Given the description of an element on the screen output the (x, y) to click on. 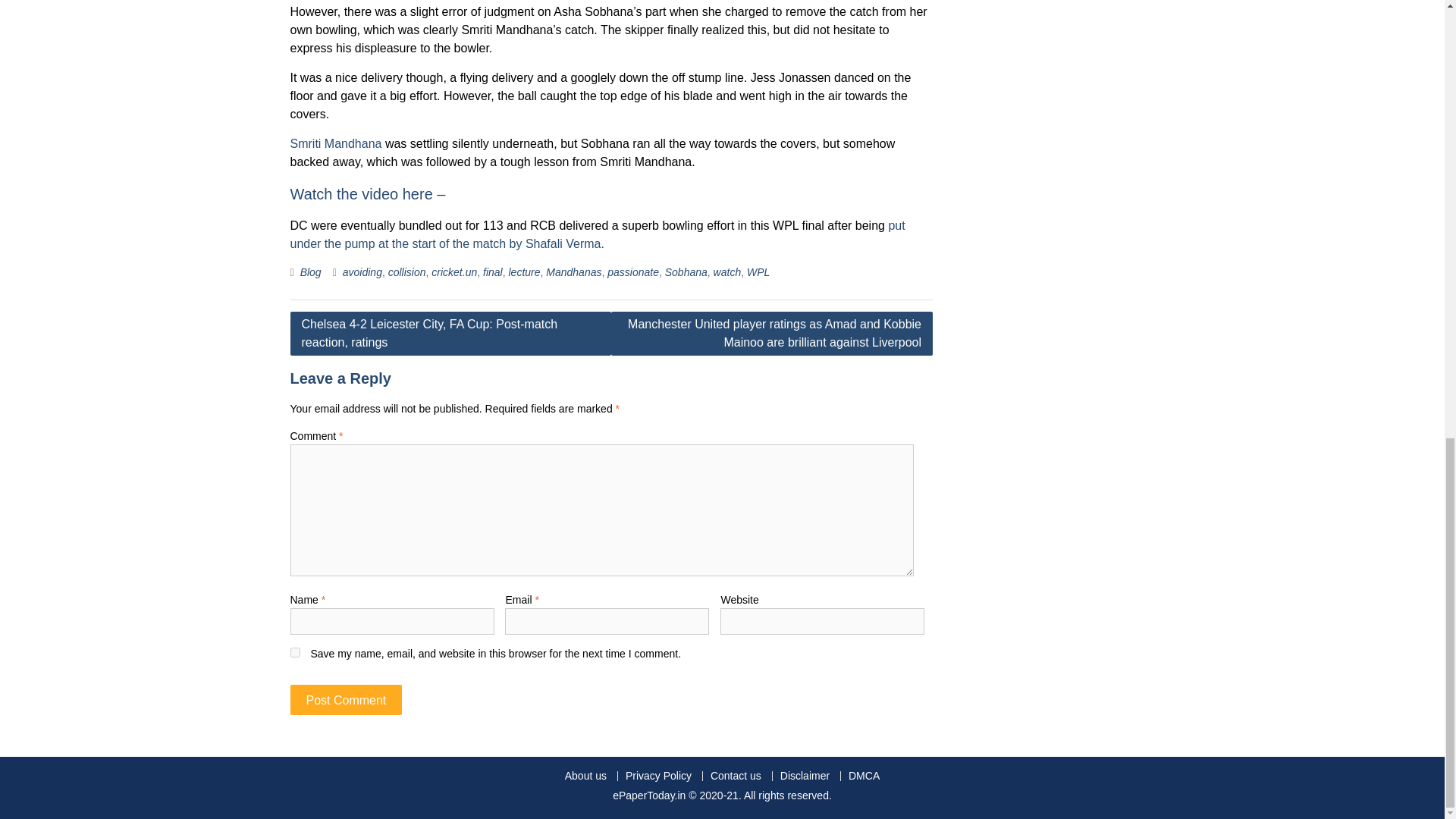
Post Comment (345, 699)
yes (294, 652)
